Given the description of an element on the screen output the (x, y) to click on. 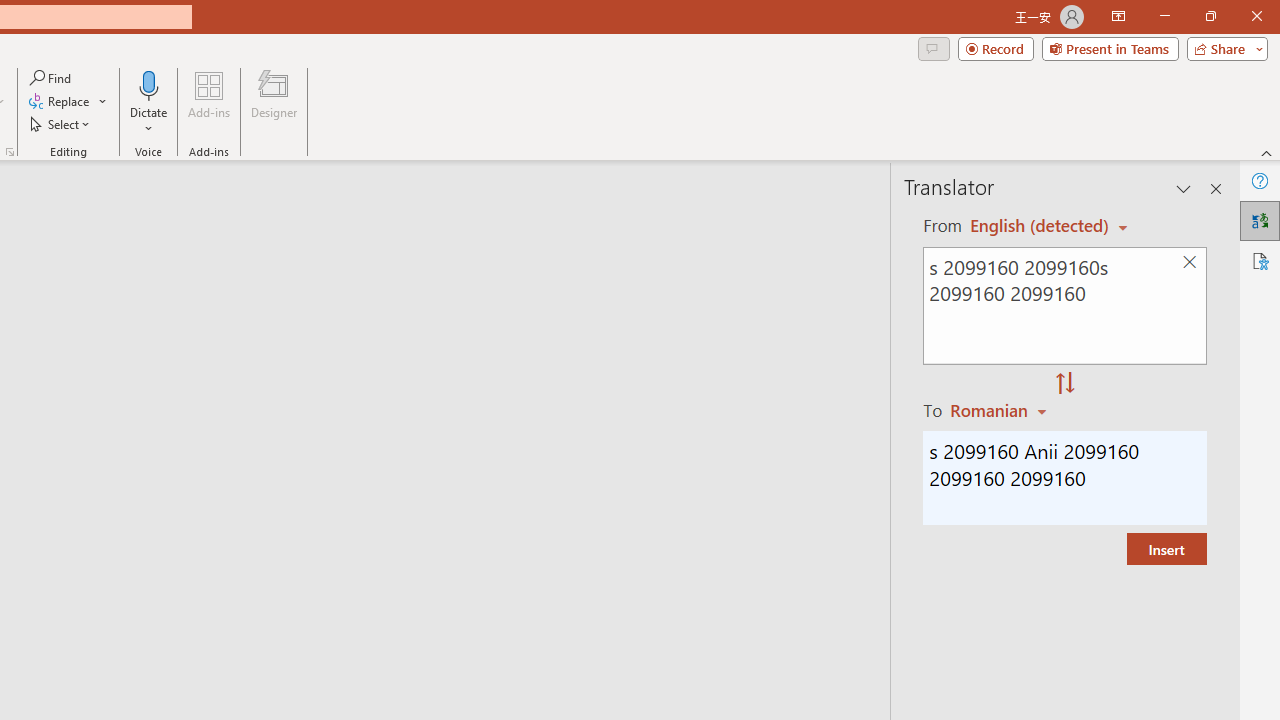
Select (61, 124)
Romanian (1001, 409)
